Given the description of an element on the screen output the (x, y) to click on. 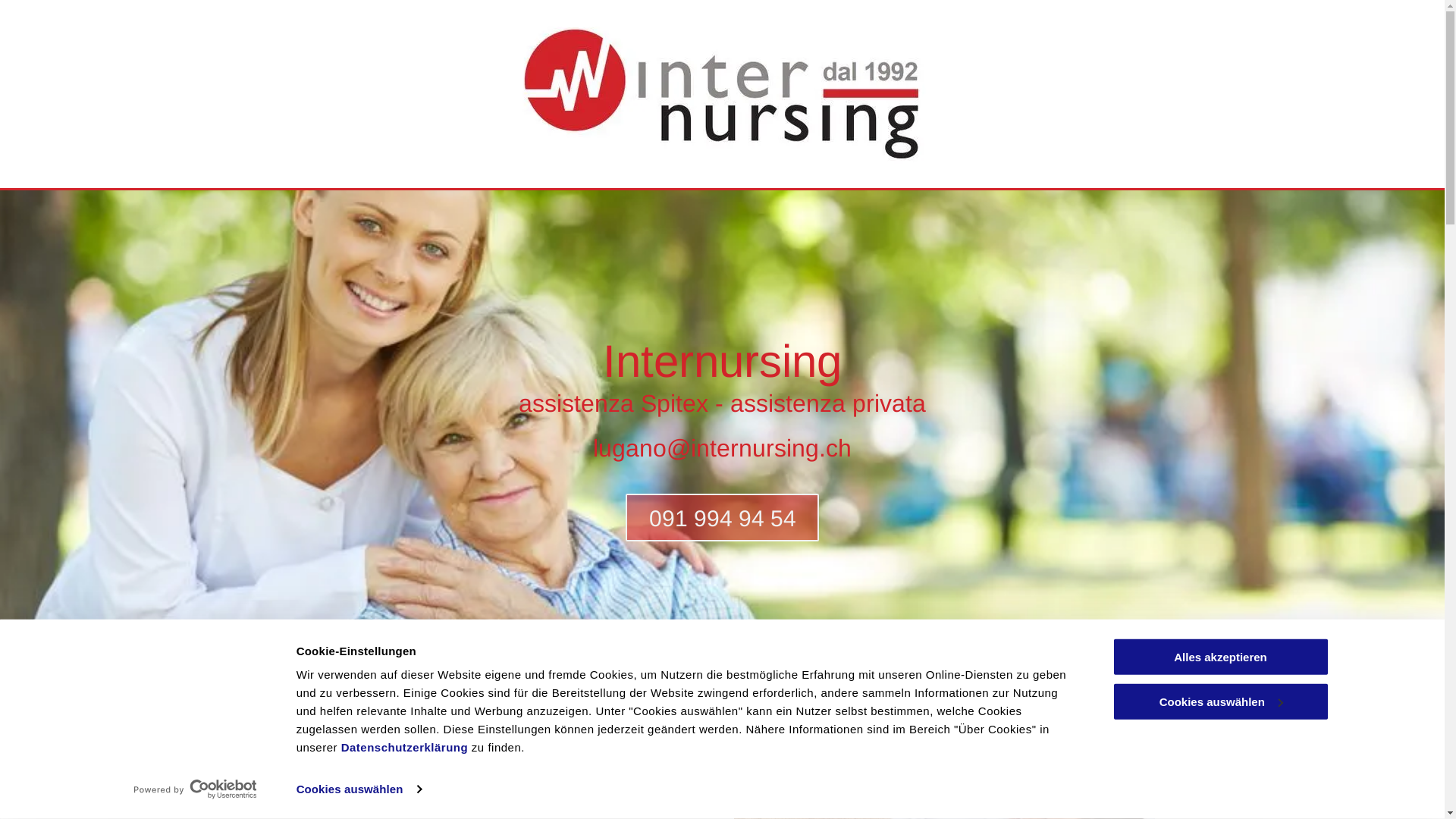
Alles akzeptieren Element type: text (1219, 656)
091 994 94 54 Element type: text (722, 517)
lugano@internursing.ch Element type: text (722, 447)
